Given the description of an element on the screen output the (x, y) to click on. 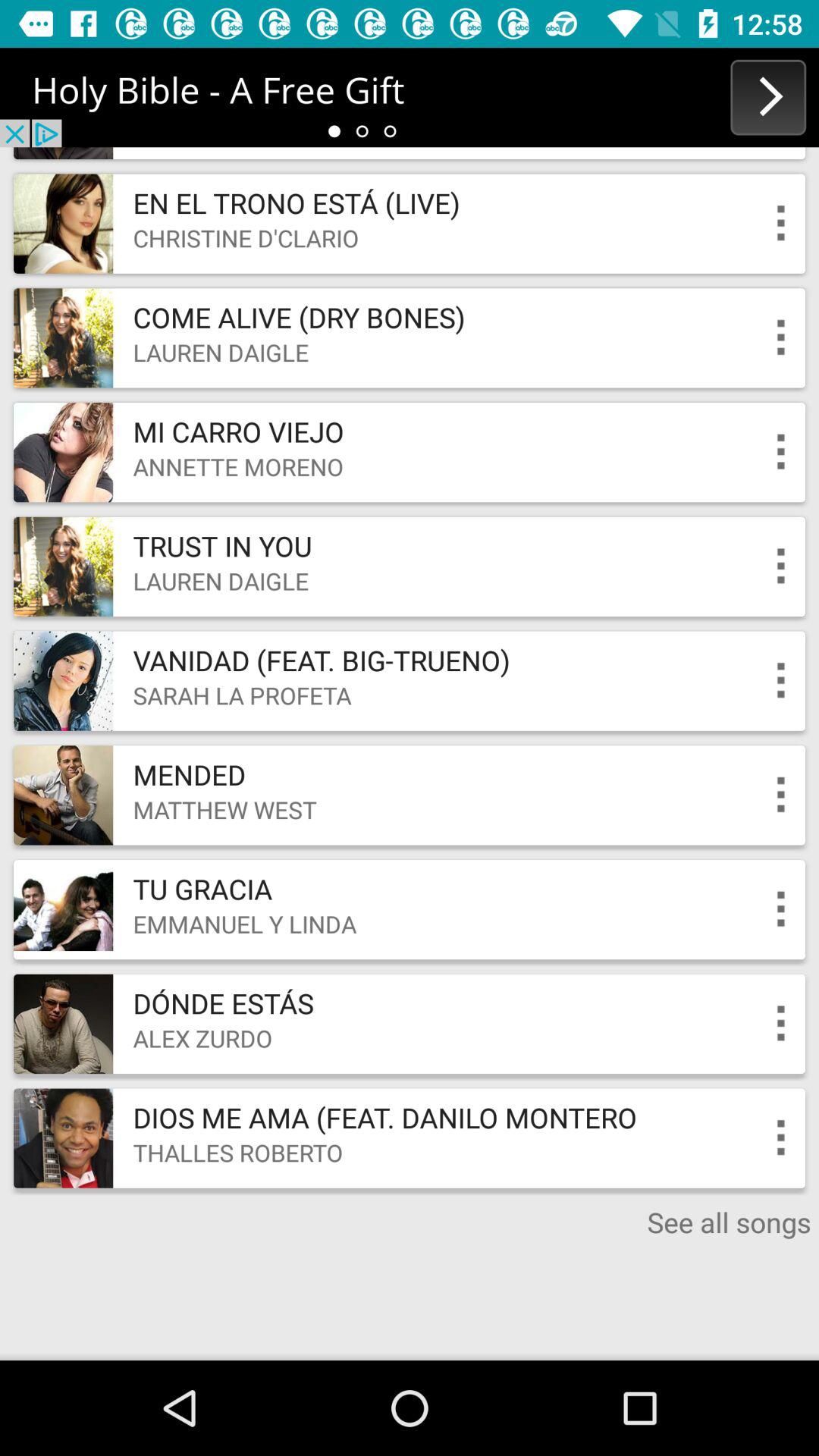
click on option button front of text alex zurdo (781, 1024)
click on the first image (63, 223)
click on fourth image from top (63, 565)
click on the third image from top (63, 452)
click on three dots below right arrow (781, 223)
select the fifth frame under holy biblea free gift (409, 681)
